Given the description of an element on the screen output the (x, y) to click on. 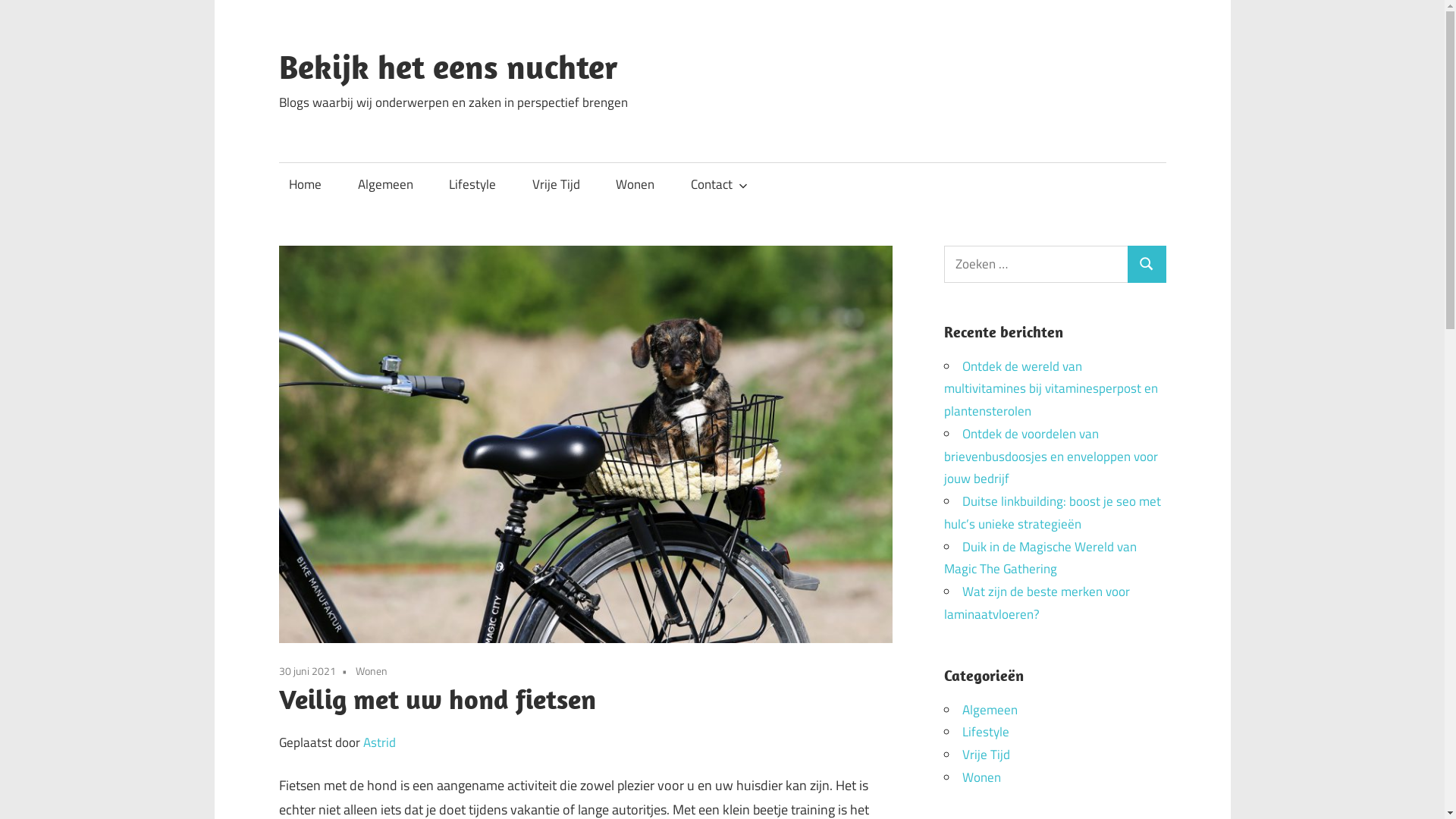
Lifestyle Element type: text (472, 184)
Zoeken naar: Element type: hover (1036, 263)
Vrije Tijd Element type: text (555, 184)
Astrid Element type: text (378, 742)
Wat zijn de beste merken voor laminaatvloeren? Element type: text (1036, 602)
Wonen Element type: text (981, 777)
Zoeken Element type: text (1146, 263)
Wonen Element type: text (370, 670)
Vrije Tijd Element type: text (986, 754)
Home Element type: text (305, 184)
Lifestyle Element type: text (985, 731)
Bekijk het eens nuchter Element type: text (448, 66)
Algemeen Element type: text (989, 708)
Duik in de Magische Wereld van Magic The Gathering Element type: text (1040, 557)
30 juni 2021 Element type: text (307, 670)
Wonen Element type: text (635, 184)
Contact Element type: text (715, 184)
Algemeen Element type: text (385, 184)
